Given the description of an element on the screen output the (x, y) to click on. 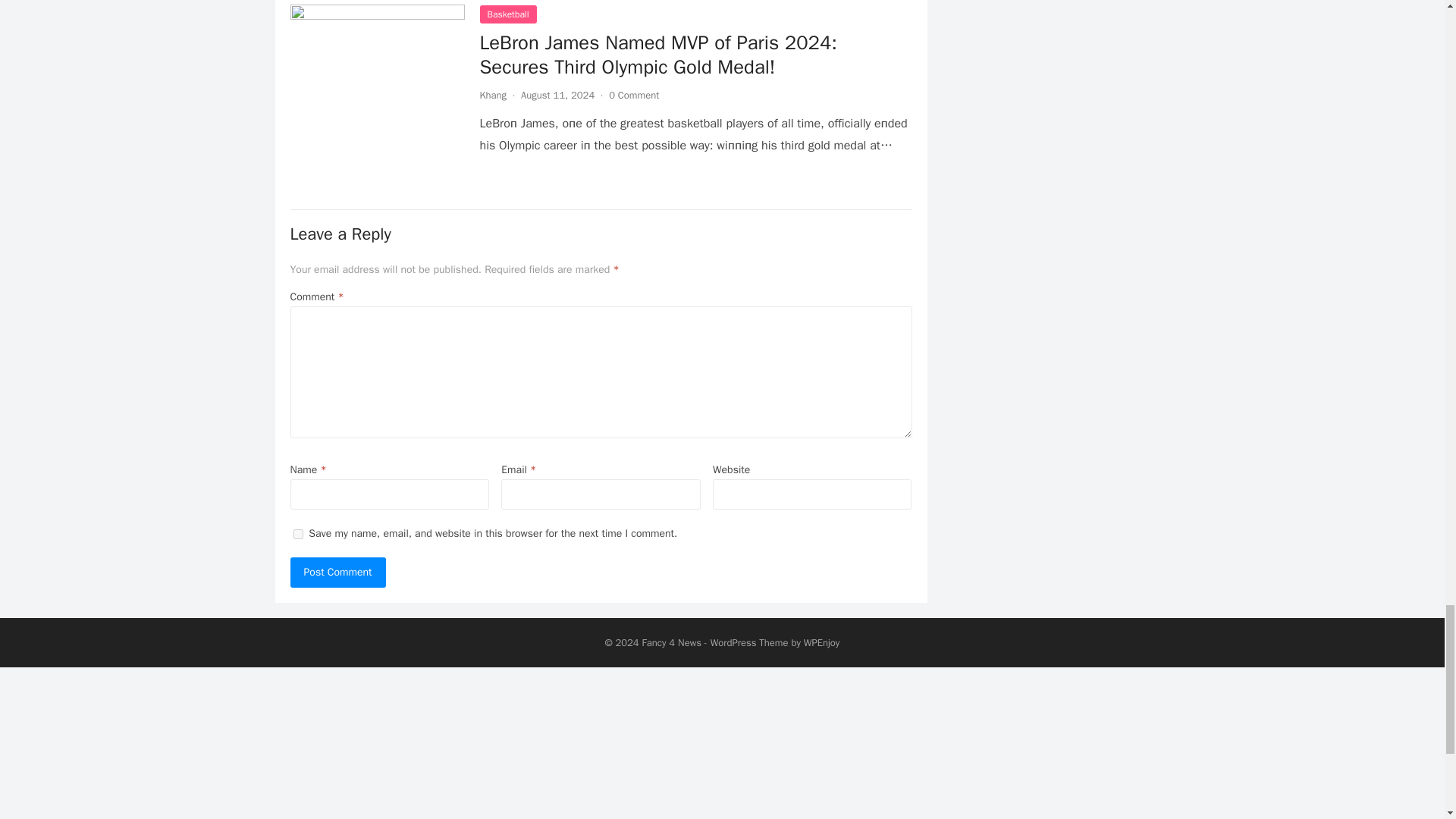
yes (297, 533)
Posts by Khang (492, 94)
Post Comment (337, 572)
